Given the description of an element on the screen output the (x, y) to click on. 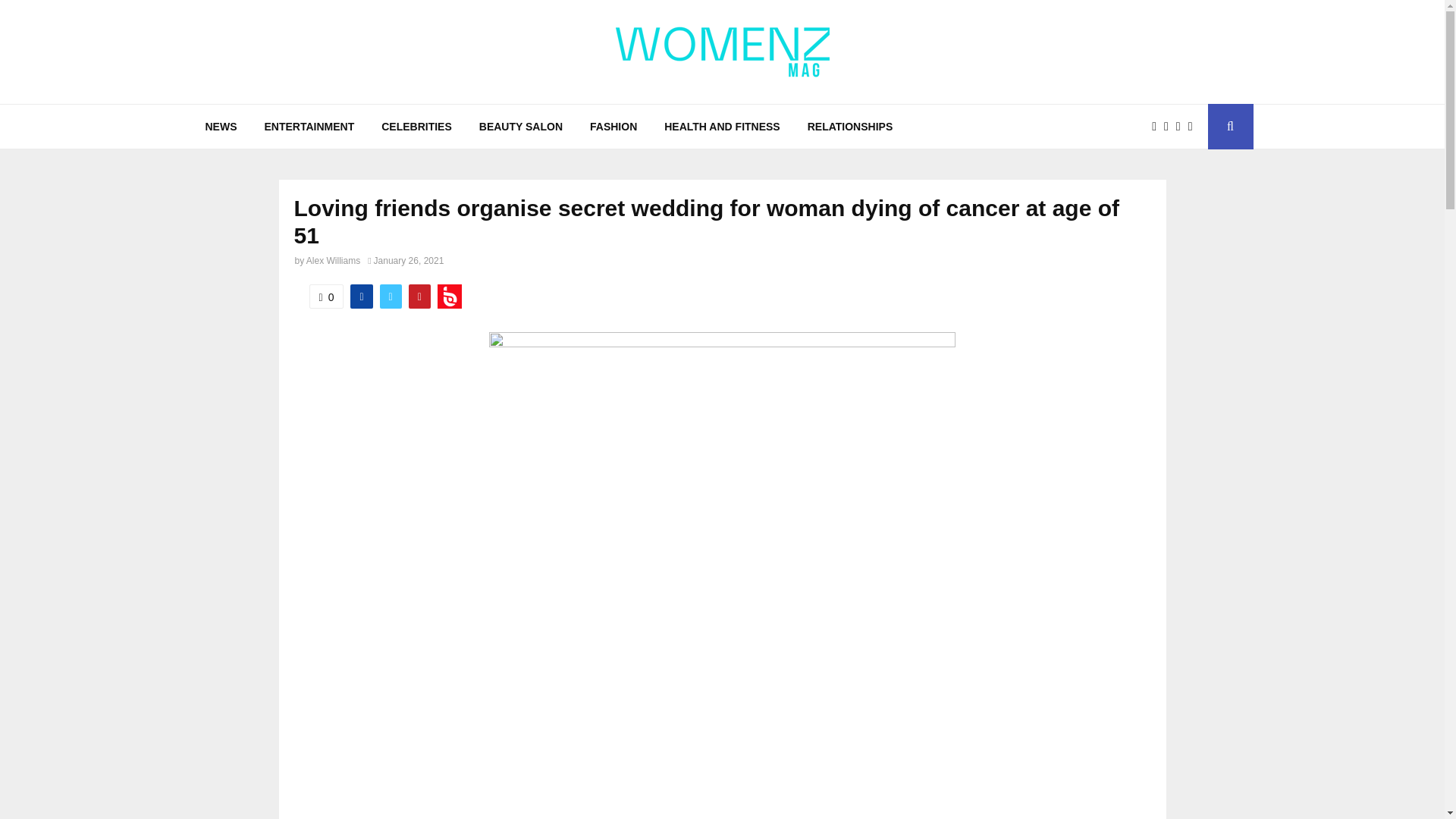
BEAUTY SALON (520, 126)
FASHION (613, 126)
Like (325, 296)
ENTERTAINMENT (309, 126)
NEWS (220, 126)
HEALTH AND FITNESS (721, 126)
Alex Williams (332, 260)
Advertisement (722, 746)
CELEBRITIES (416, 126)
RELATIONSHIPS (850, 126)
